Given the description of an element on the screen output the (x, y) to click on. 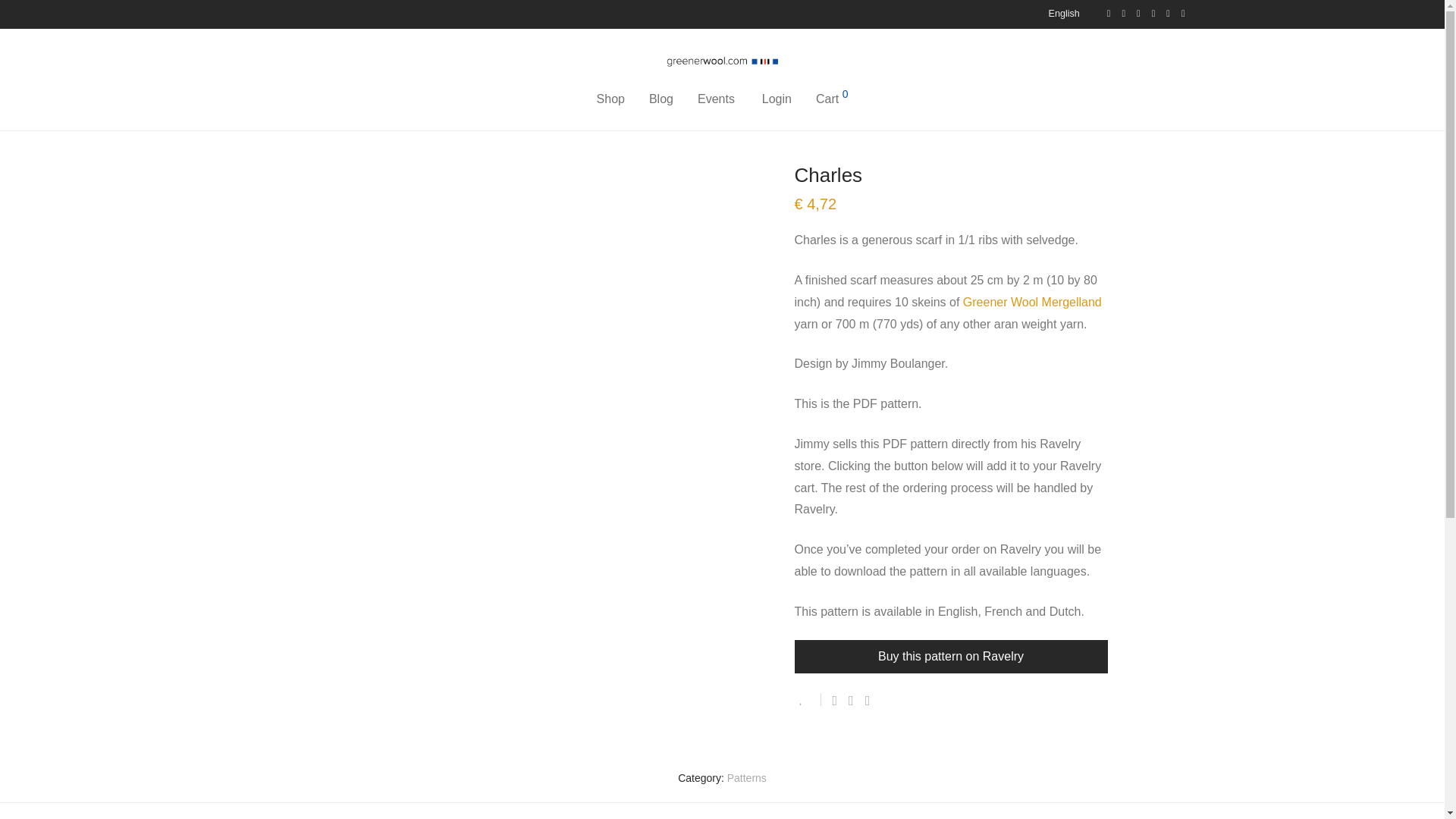
Blog (661, 99)
Shop (271, 117)
Patterns (317, 117)
English (1060, 13)
English (1060, 13)
Login (776, 99)
Patterns (746, 777)
Buy this pattern on Ravelry (951, 656)
Events (715, 99)
Greener Wool Mergelland (1032, 301)
Cart 0 (831, 99)
Add to Wishlist (807, 698)
Shop (611, 99)
